Given the description of an element on the screen output the (x, y) to click on. 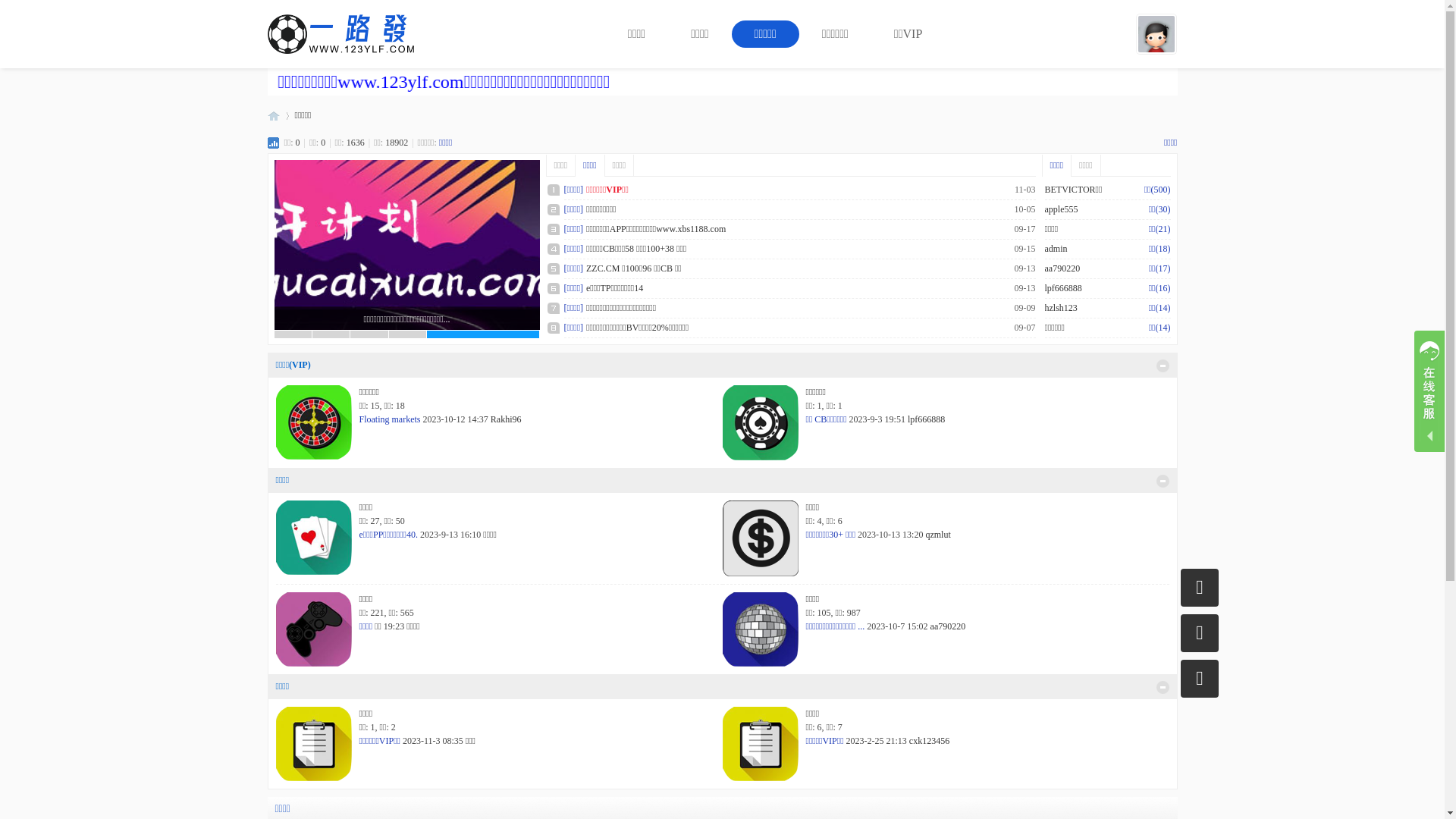
apple555 Element type: text (1061, 208)
cxk123456 Element type: text (929, 740)
lpf666888 Element type: text (925, 419)
aa790220 Element type: text (1062, 268)
aa790220 Element type: text (1017, 327)
admin Element type: text (1055, 248)
aa790220 Element type: text (1017, 208)
aa790220 Element type: text (1017, 228)
aa790220 Element type: text (1017, 248)
qzmlut Element type: text (937, 534)
aa790220 Element type: text (948, 626)
Rakhi96 Element type: text (505, 419)
hzlsh123 Element type: text (1060, 307)
aa790220 Element type: text (1017, 268)
Floating markets Element type: text (389, 419)
aa790220 Element type: text (1017, 307)
lpf666888 Element type: text (1063, 287)
aa790220 Element type: text (1017, 287)
